Given the description of an element on the screen output the (x, y) to click on. 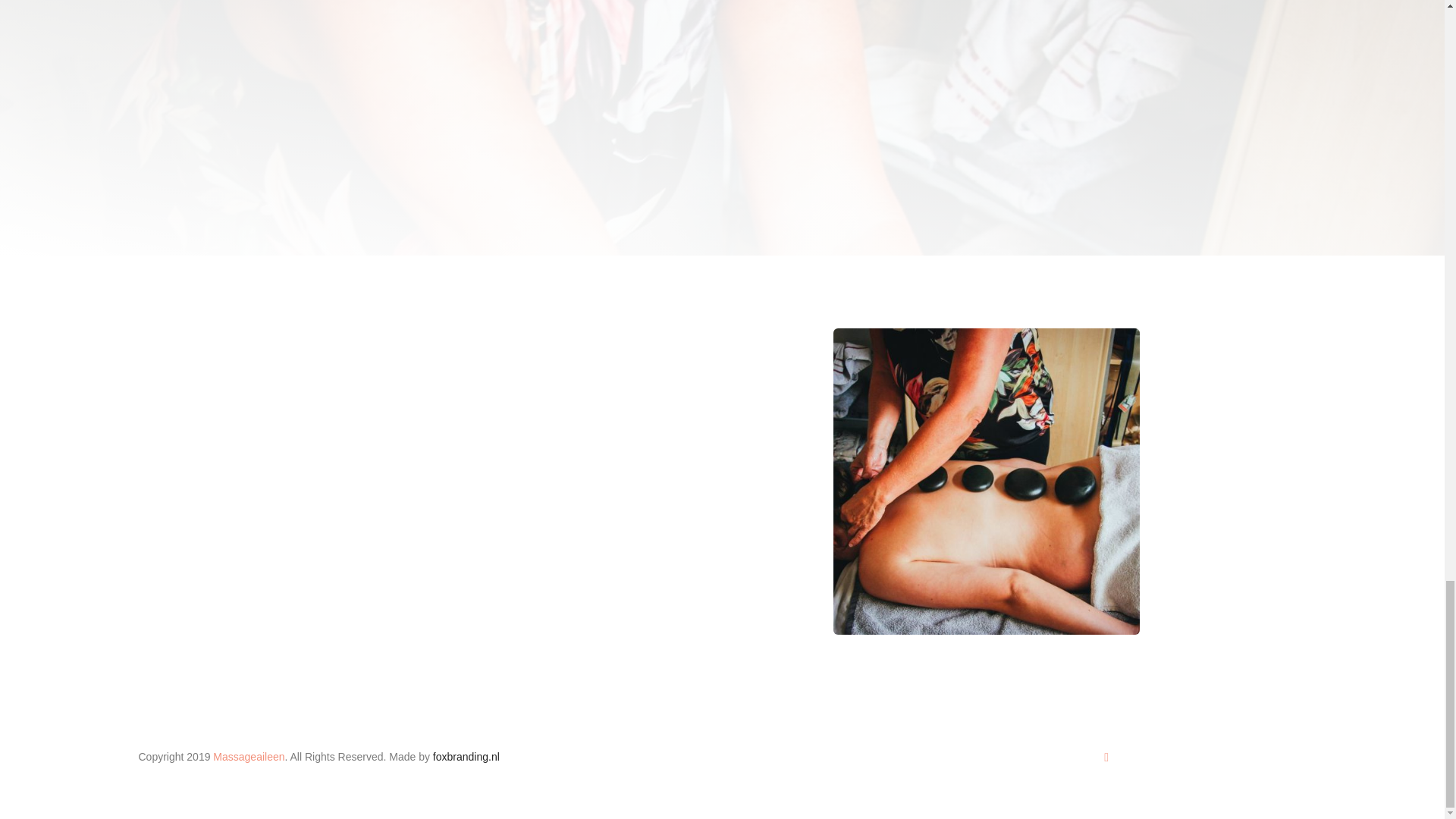
foxbranding.nl (465, 756)
Massageaileen (247, 756)
